Given the description of an element on the screen output the (x, y) to click on. 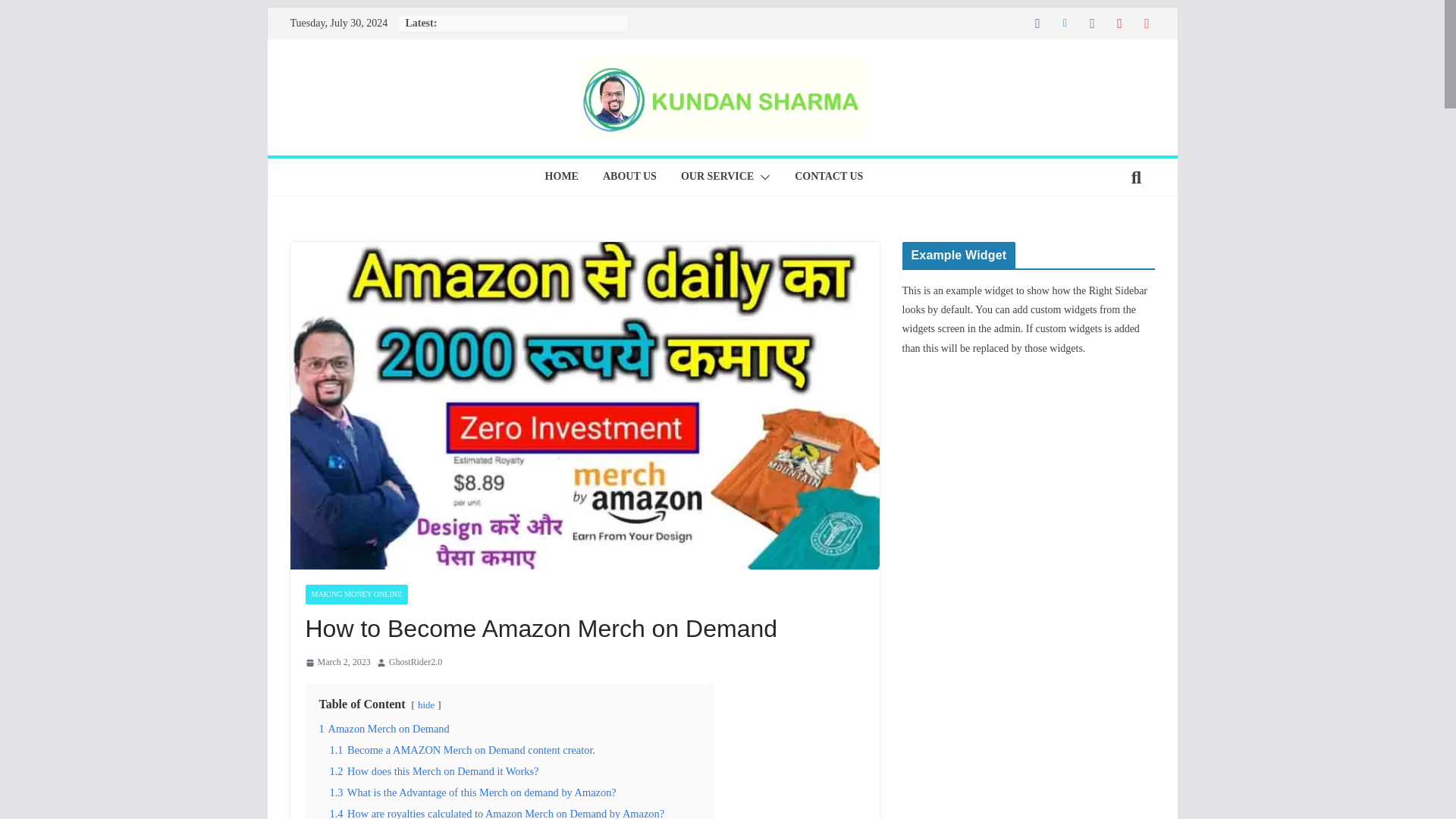
hide (425, 705)
1.1 Become a AMAZON Merch on Demand content creator. (462, 749)
2:55 am (336, 662)
MAKING MONEY ONLINE (355, 594)
ABOUT US (629, 177)
HOME (561, 177)
1 Amazon Merch on Demand (383, 728)
GhostRider2.0 (415, 662)
CONTACT US (828, 177)
1.2 How does this Merch on Demand it Works? (433, 770)
1.3 What is the Advantage of this Merch on demand by Amazon? (472, 792)
March 2, 2023 (336, 662)
OUR SERVICE (717, 177)
GhostRider2.0 (415, 662)
